Given the description of an element on the screen output the (x, y) to click on. 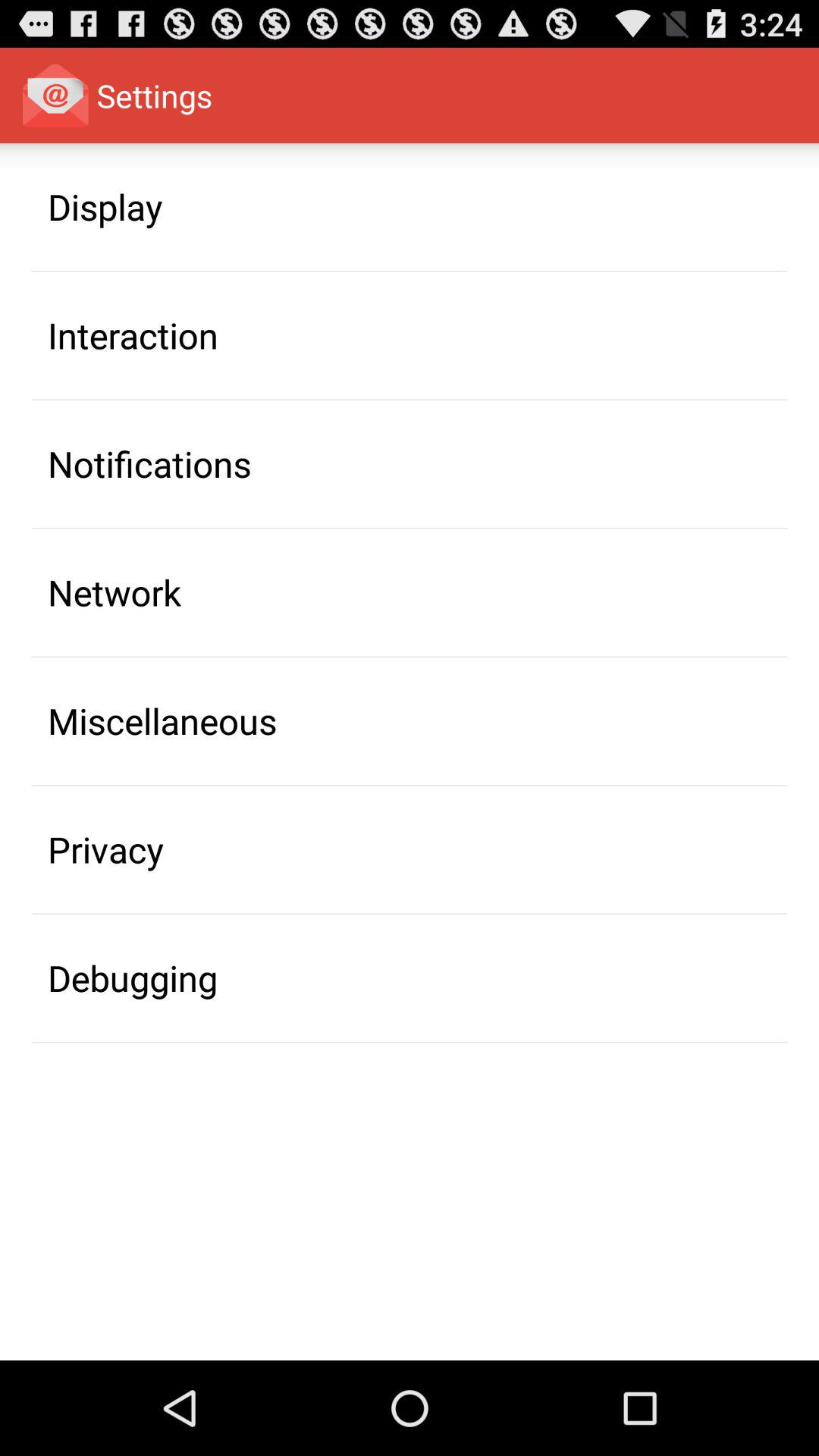
launch the network icon (114, 592)
